Given the description of an element on the screen output the (x, y) to click on. 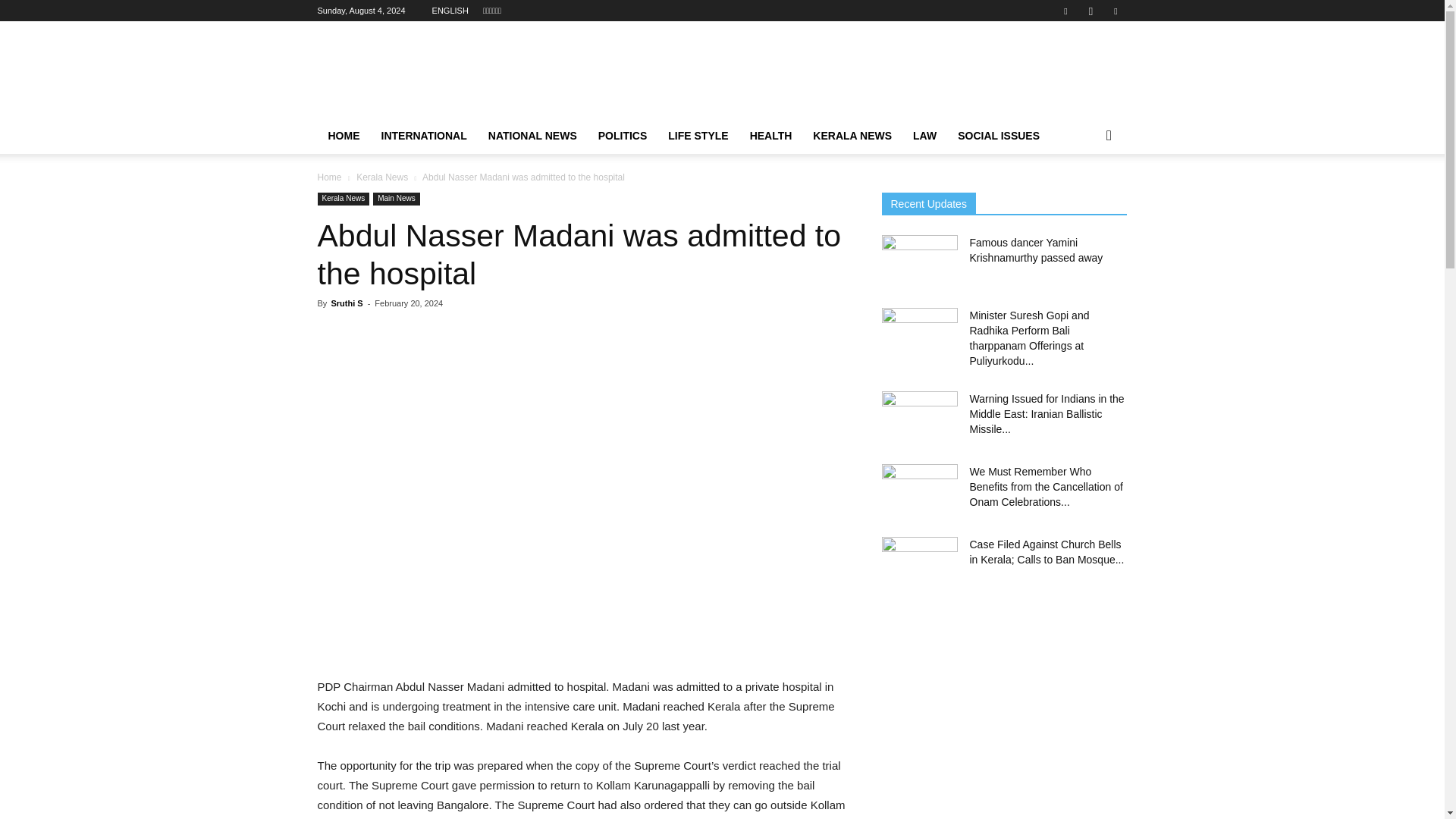
Youtube (1114, 10)
Search (1085, 196)
LAW (924, 135)
Sruthi S (346, 302)
INTERNATIONAL (423, 135)
Home (328, 176)
Main News (395, 198)
View all posts in Kerala News (381, 176)
SOCIAL ISSUES (998, 135)
Instagram (1090, 10)
NATIONAL NEWS (532, 135)
HOME (343, 135)
LIFE STYLE (698, 135)
Facebook (1065, 10)
